Given the description of an element on the screen output the (x, y) to click on. 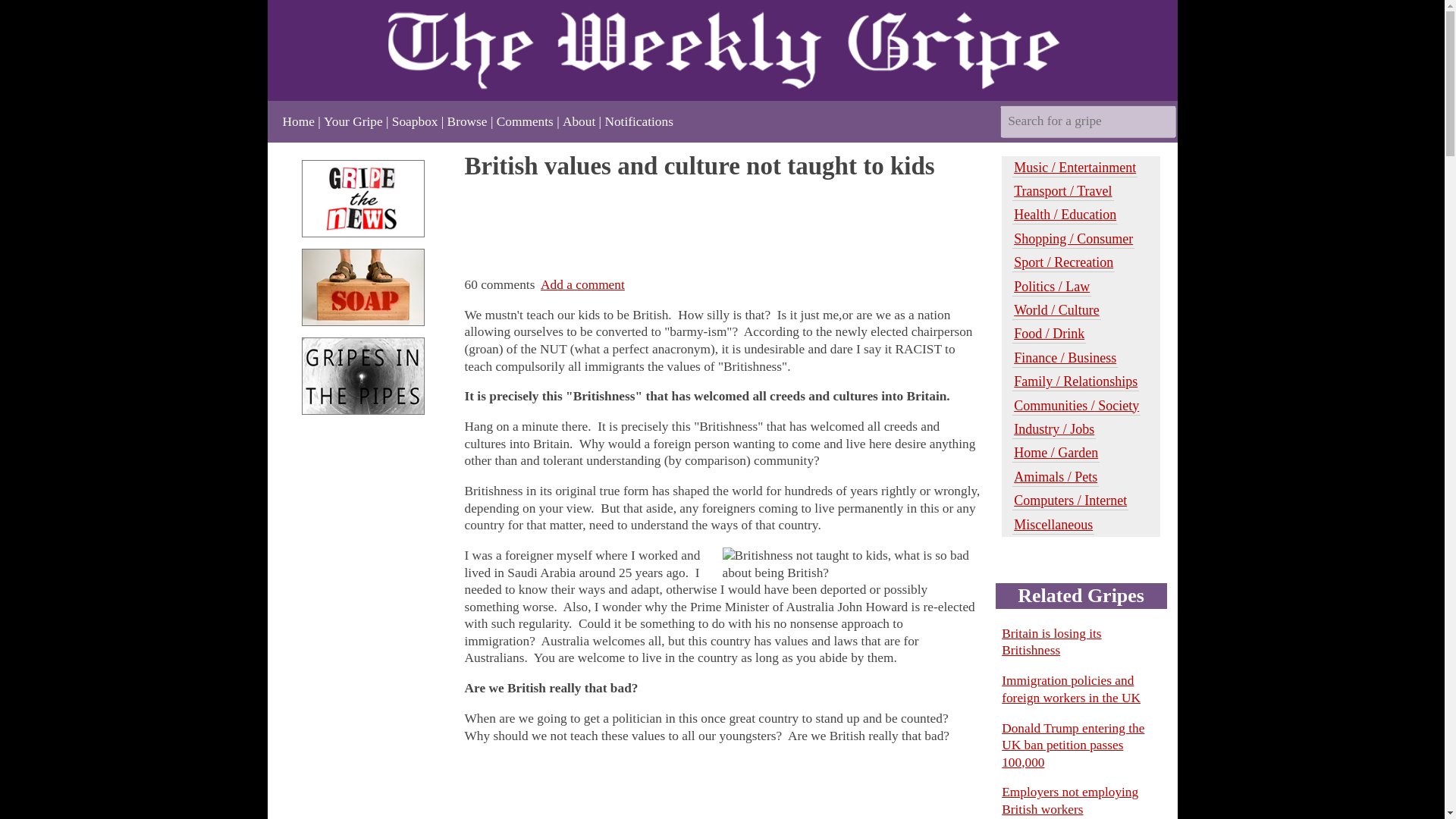
Finance and Business (1064, 357)
Miscellaneous gripes (1052, 524)
Family and Relationships (1074, 381)
Comments (524, 120)
Food and Drink (1048, 333)
Your Gripe (352, 120)
Shopping and Consumer (1072, 239)
Politics and Law (1050, 286)
Transport and Travel (1062, 190)
Add a comment (582, 284)
